Given the description of an element on the screen output the (x, y) to click on. 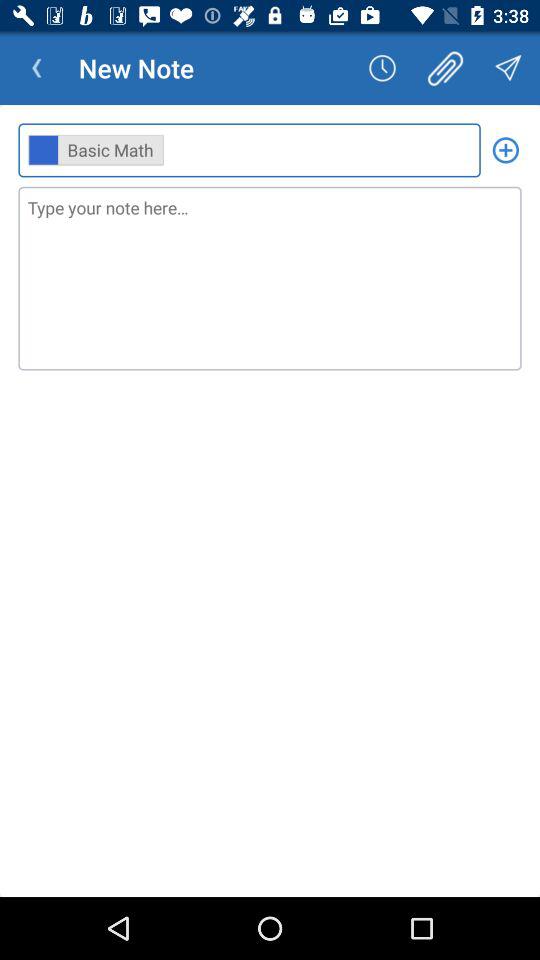
add filter (505, 150)
